Given the description of an element on the screen output the (x, y) to click on. 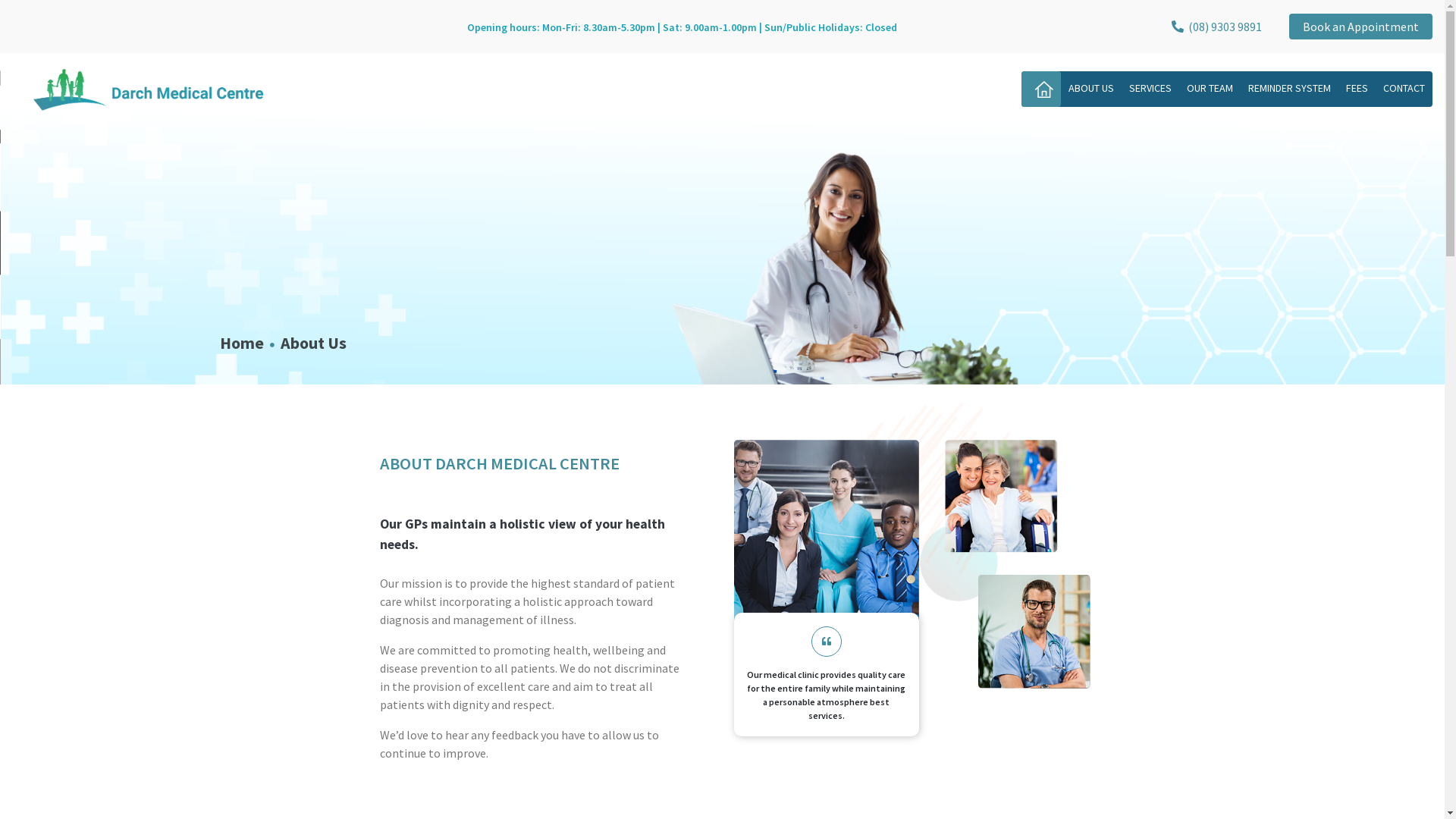
FEES Element type: text (1356, 88)
SERVICES Element type: text (1150, 88)
   (08) 9303 9891 Element type: text (1215, 26)
OUR TEAM Element type: text (1209, 88)
ABOUT US Element type: text (1090, 88)
Book an Appointment Element type: text (1360, 26)
Book an Appointment Element type: text (1360, 26)
Home Element type: text (241, 342)
REMINDER SYSTEM Element type: text (1289, 88)
CONTACT Element type: text (1403, 88)
About Us Element type: text (313, 342)
